Given the description of an element on the screen output the (x, y) to click on. 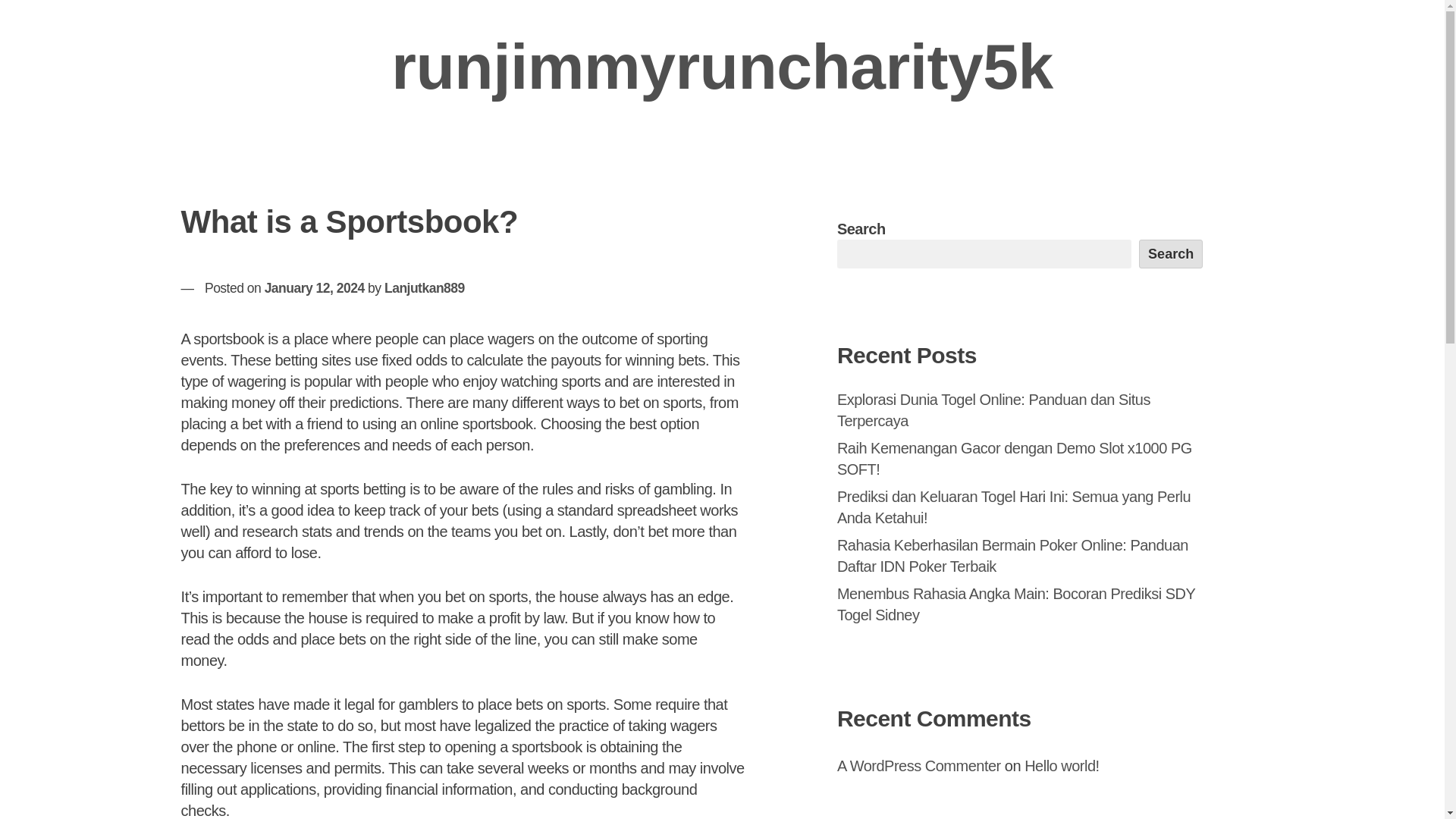
Explorasi Dunia Togel Online: Panduan dan Situs Terpercaya (993, 410)
A WordPress Commenter (919, 765)
Search (1171, 253)
January 12, 2024 (314, 287)
Raih Kemenangan Gacor dengan Demo Slot x1000 PG SOFT! (1014, 458)
Lanjutkan889 (424, 287)
Hello world! (1062, 765)
